Given the description of an element on the screen output the (x, y) to click on. 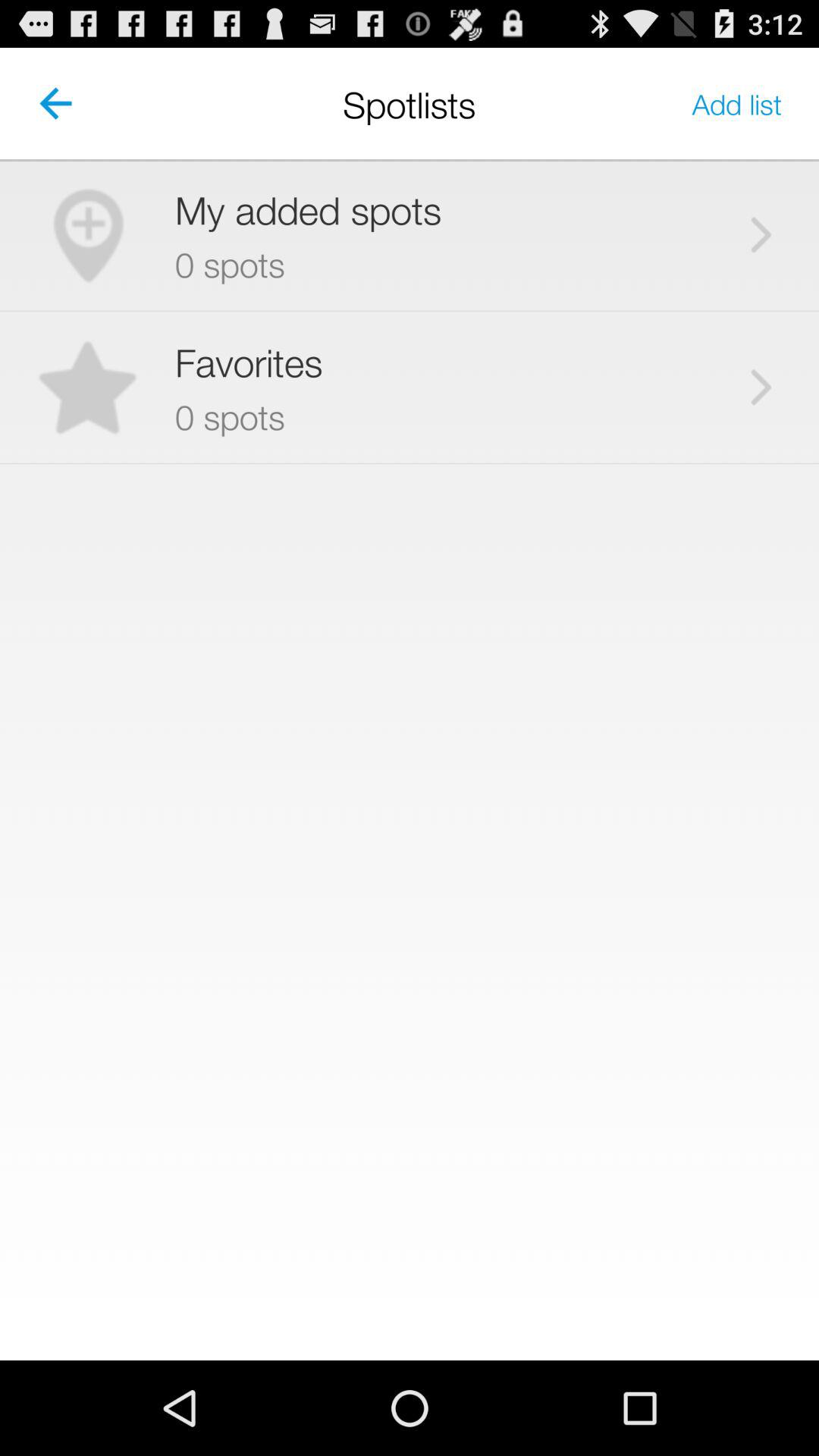
scroll until add list (737, 103)
